Given the description of an element on the screen output the (x, y) to click on. 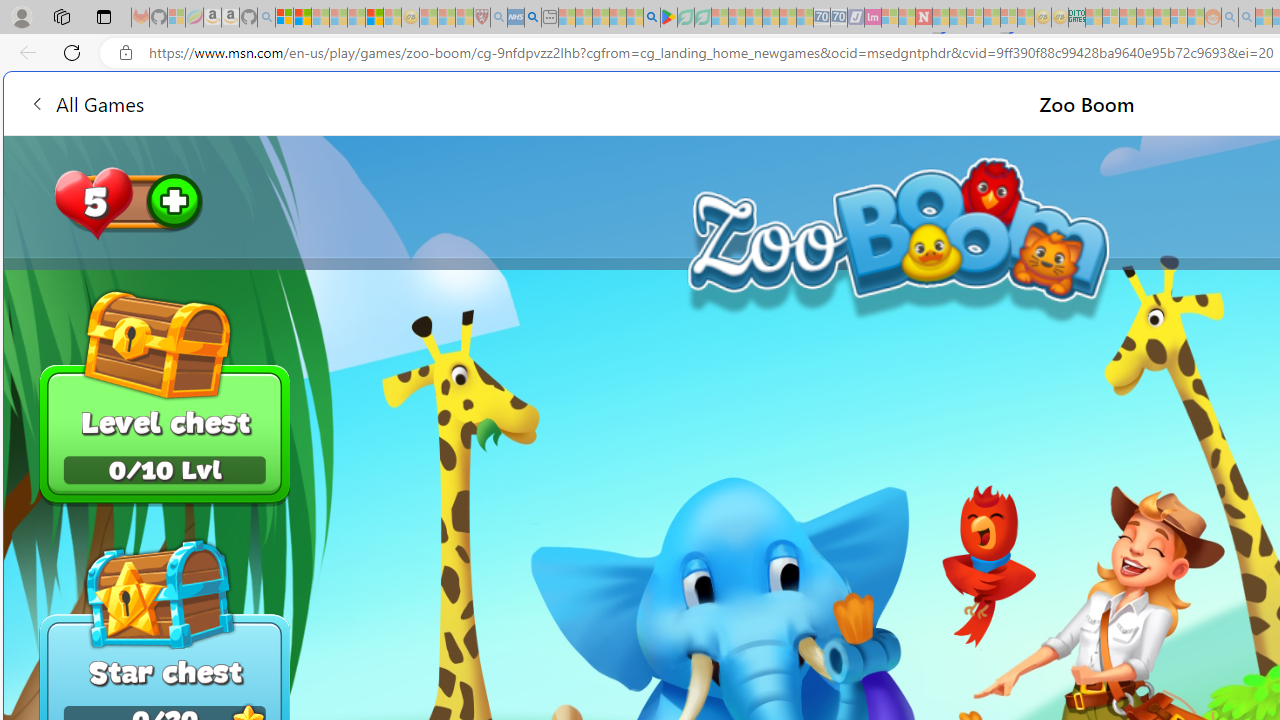
google - Search (651, 17)
Robert H. Shmerling, MD - Harvard Health - Sleeping (481, 17)
Utah sues federal government - Search - Sleeping (1247, 17)
Bluey: Let's Play! - Apps on Google Play (668, 17)
14 Common Myths Debunked By Scientific Facts - Sleeping (957, 17)
DITOGAMES AG Imprint (1076, 17)
